Given the description of an element on the screen output the (x, y) to click on. 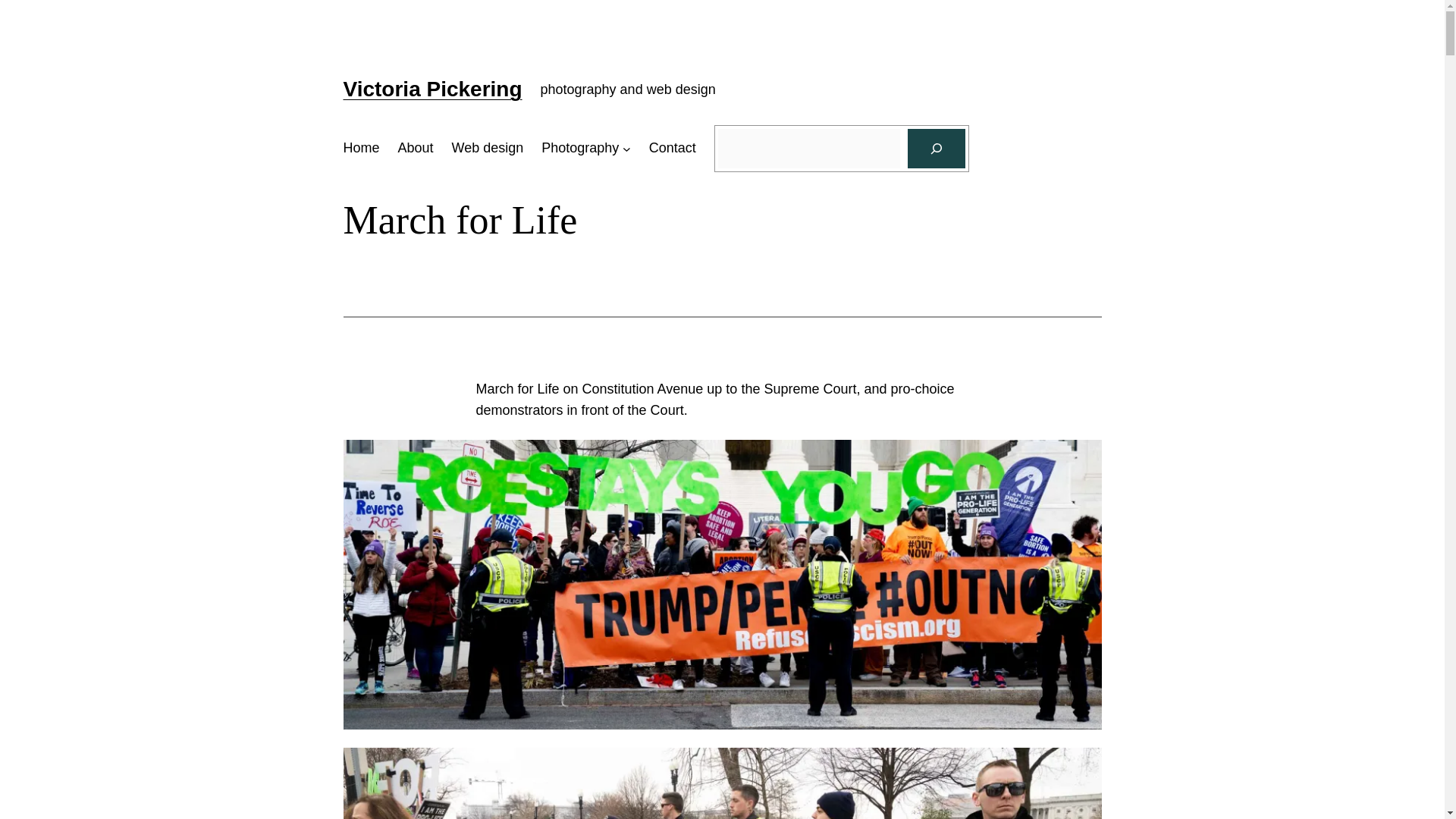
Contact (672, 147)
Victoria Pickering (431, 88)
Home (360, 147)
Photography (579, 147)
About (415, 147)
Web design (487, 147)
